Given the description of an element on the screen output the (x, y) to click on. 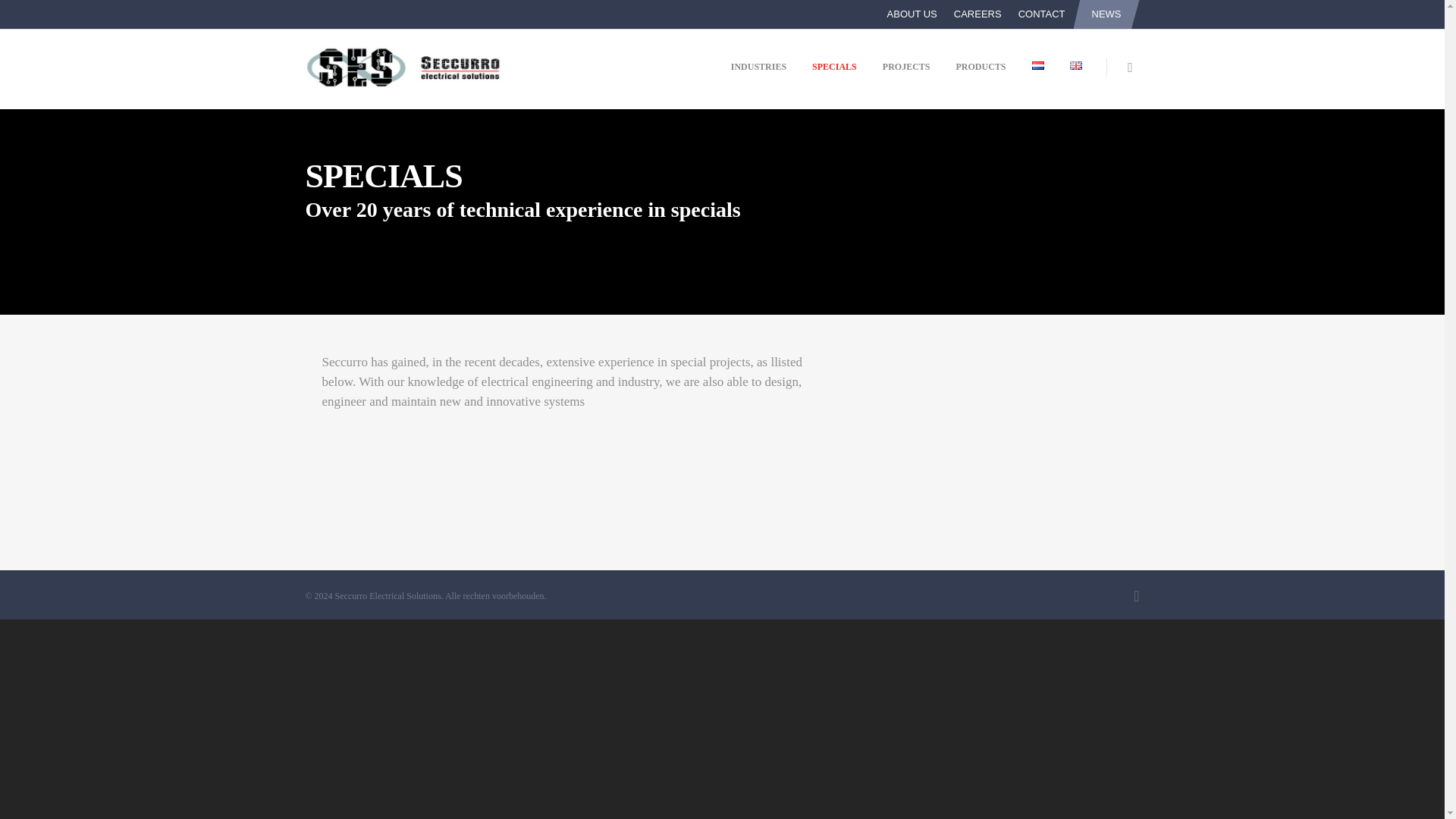
INDUSTRIES (758, 76)
PROJECTS (906, 76)
CONTACT (1041, 14)
CAREERS (977, 14)
PRODUCTS (980, 76)
NEWS (1106, 14)
ABOUT US (911, 14)
SPECIALS (834, 76)
